Given the description of an element on the screen output the (x, y) to click on. 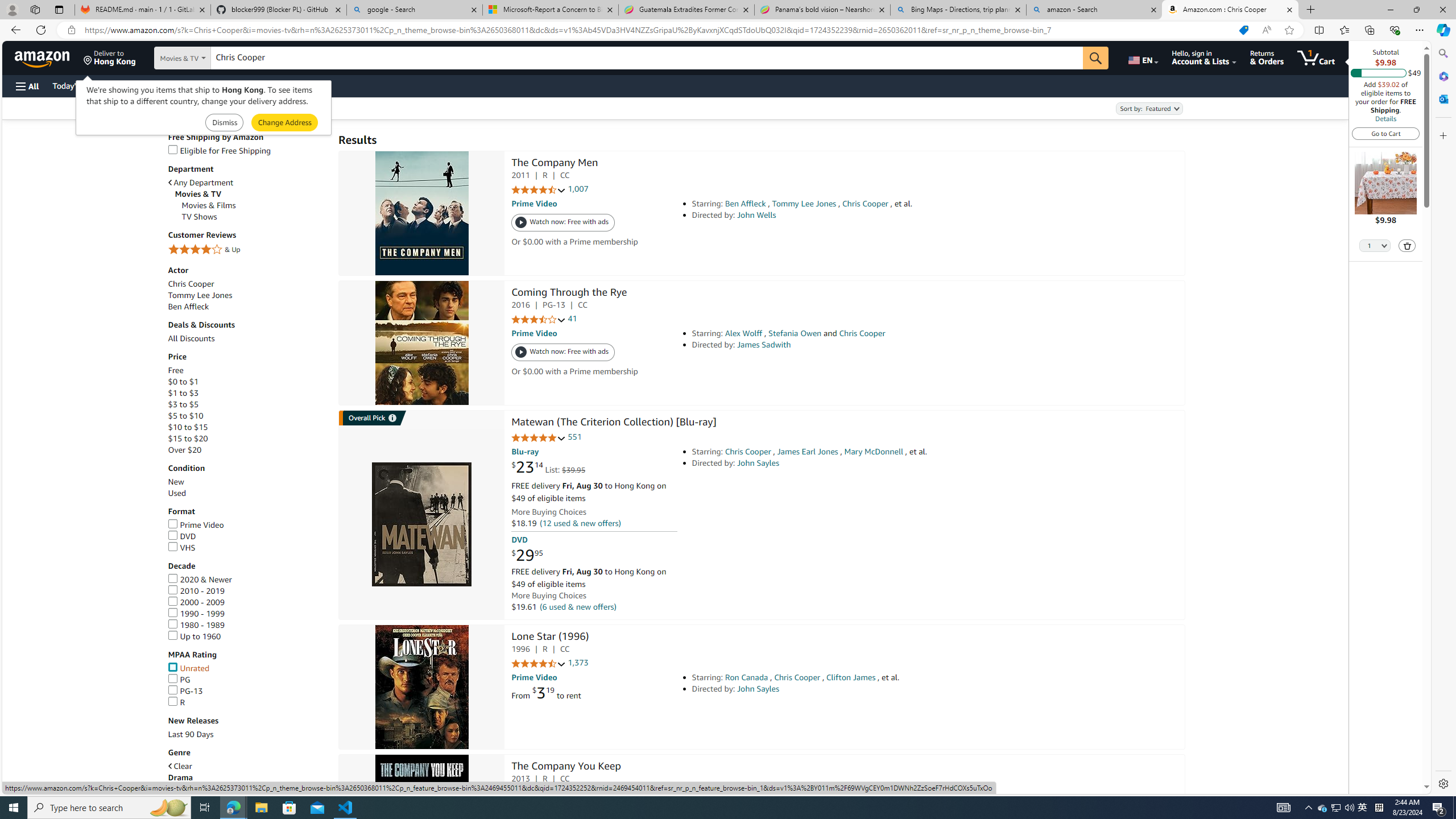
Any Department (247, 182)
Go to Cart (1385, 133)
2000 - 2009 (195, 601)
1990 - 1999 (195, 613)
VHS (181, 547)
Unrated (188, 668)
Skip to main content (48, 56)
$15 to $20 (187, 438)
1 item in cart (1315, 57)
Chris Cooper (190, 283)
Delete (1407, 245)
Directed by: James Sadwith (850, 344)
